Given the description of an element on the screen output the (x, y) to click on. 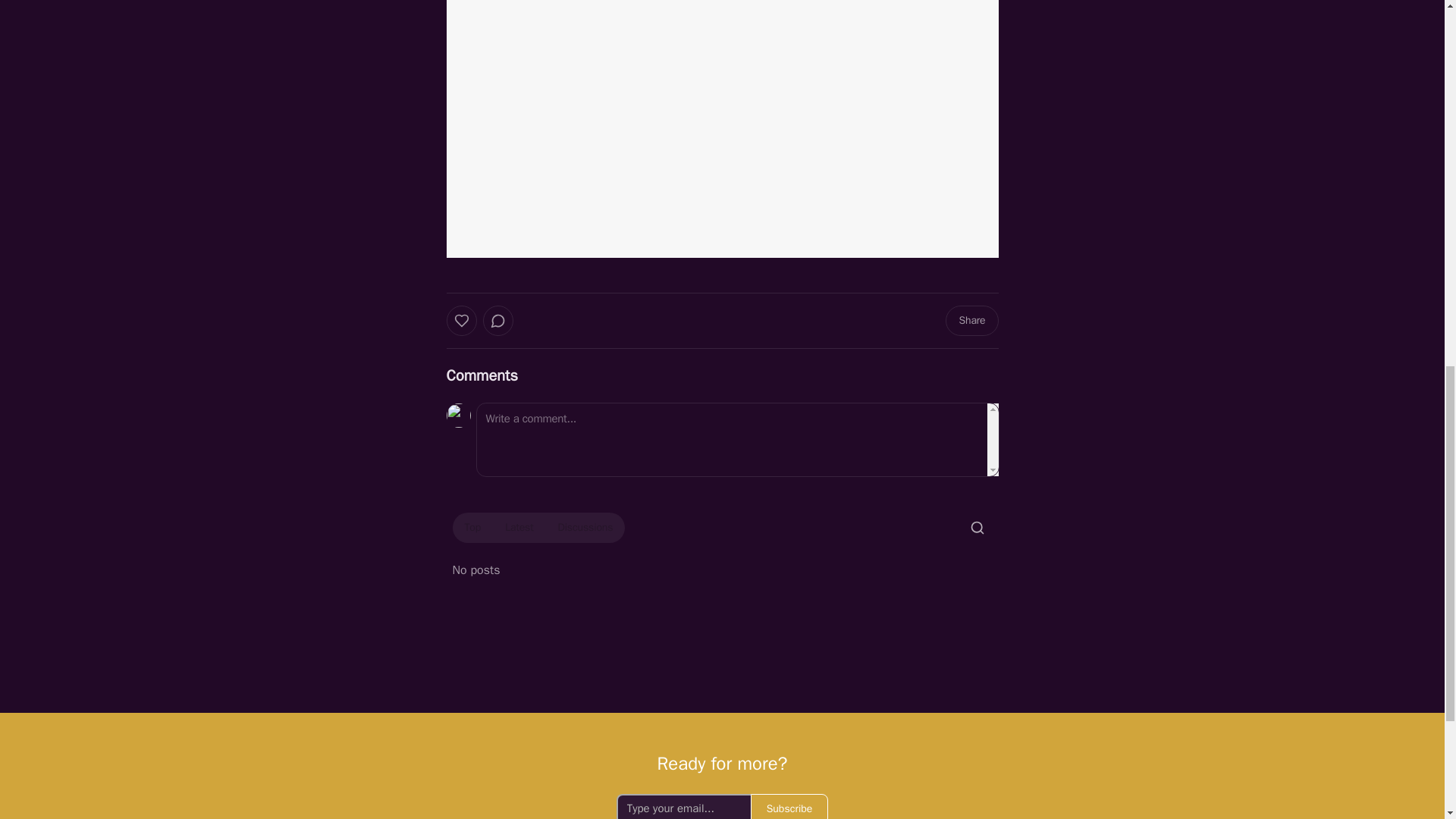
Latest (518, 527)
Discussions (585, 527)
Subscribe (789, 806)
Top (471, 527)
Share (970, 320)
